Given the description of an element on the screen output the (x, y) to click on. 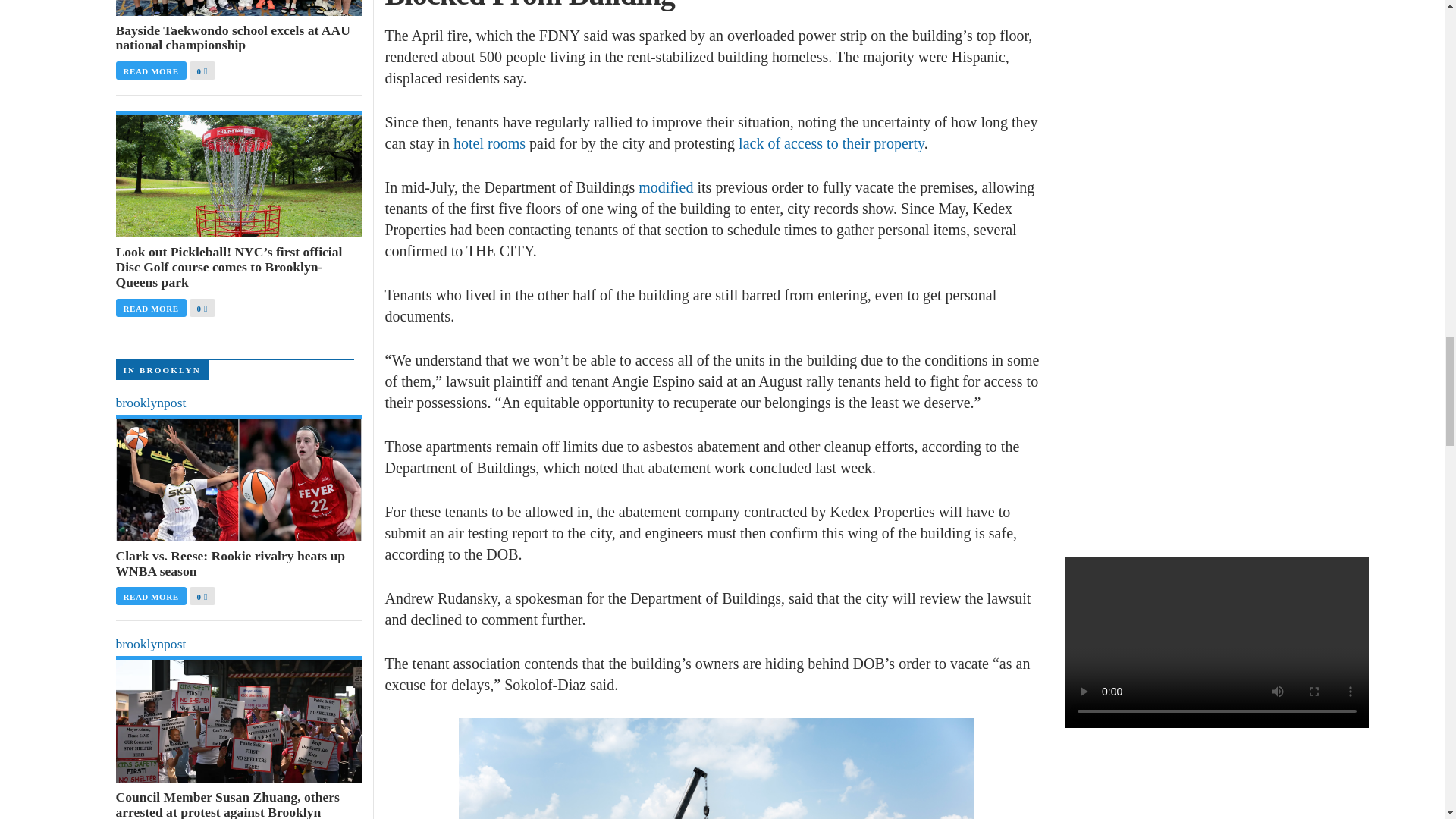
hotel rooms (488, 143)
